Given the description of an element on the screen output the (x, y) to click on. 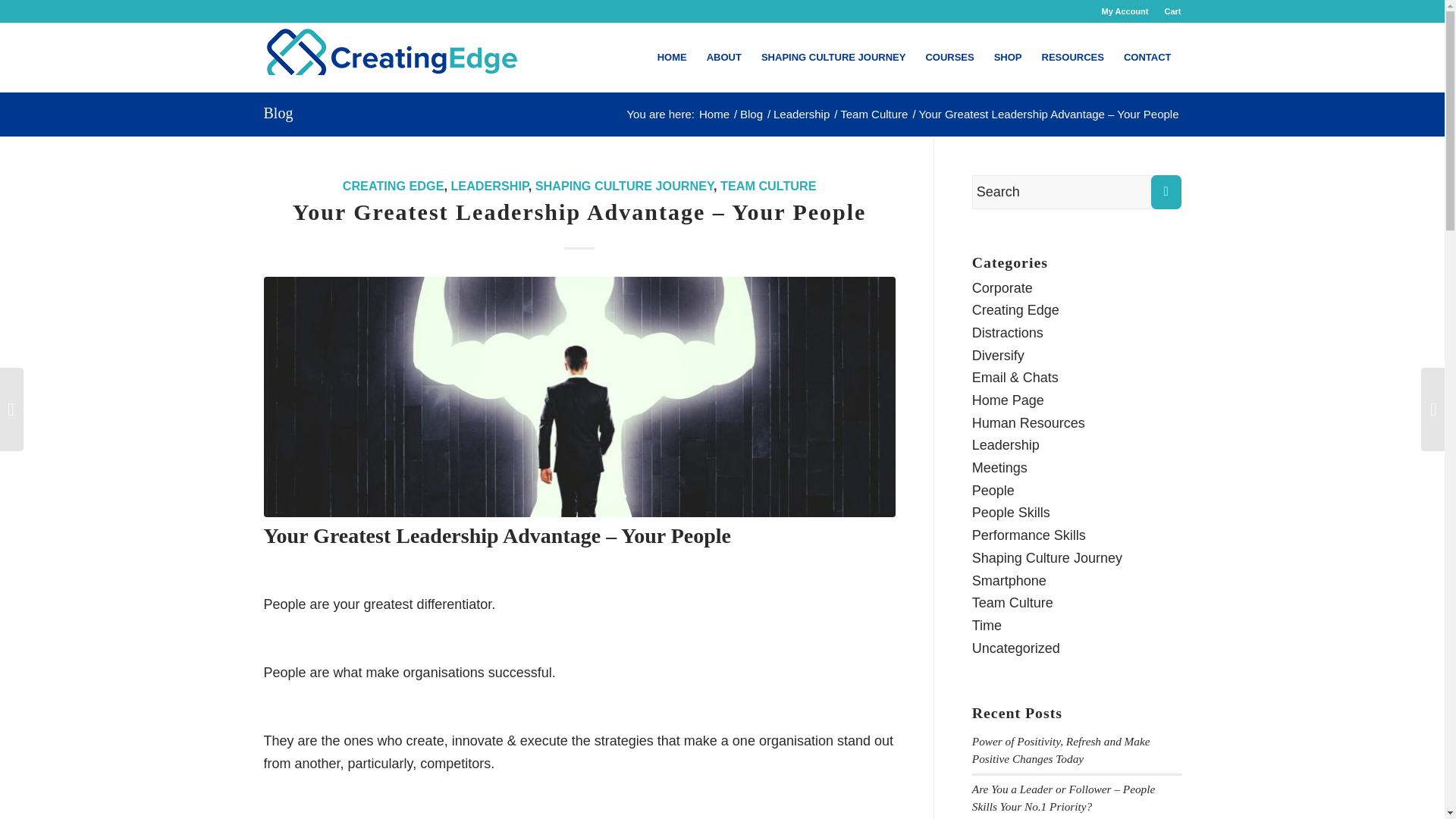
Blog (751, 113)
COURSES (949, 57)
Permanent Link: Blog (278, 112)
Creating Edge (714, 113)
My Account (1125, 11)
Blog (278, 112)
SHAPING CULTURE JOURNEY (833, 57)
CONTACT (1146, 57)
RESOURCES (1072, 57)
creating-edge-logo-web (392, 57)
